Given the description of an element on the screen output the (x, y) to click on. 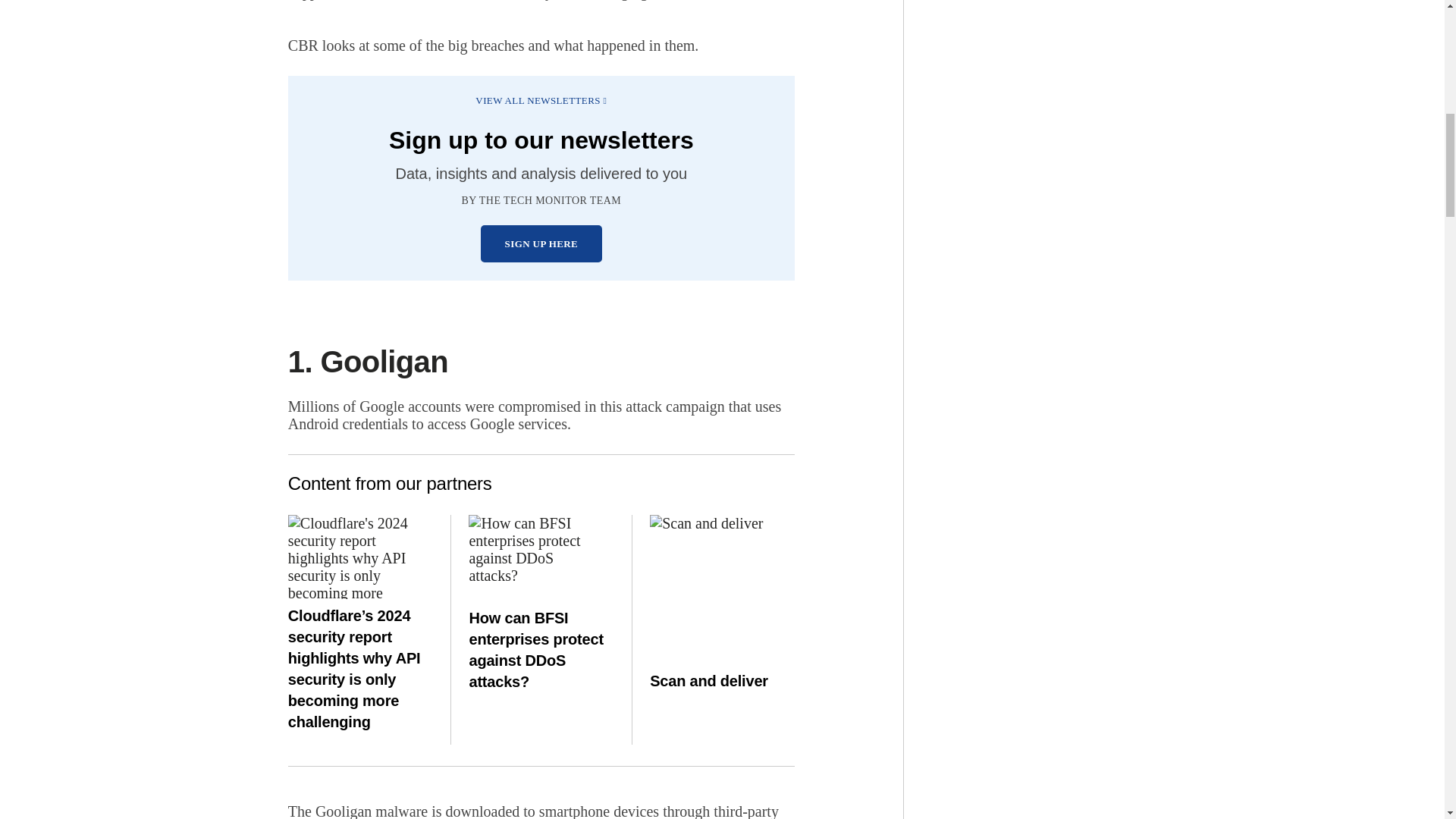
Scan and deliver (721, 569)
